Given the description of an element on the screen output the (x, y) to click on. 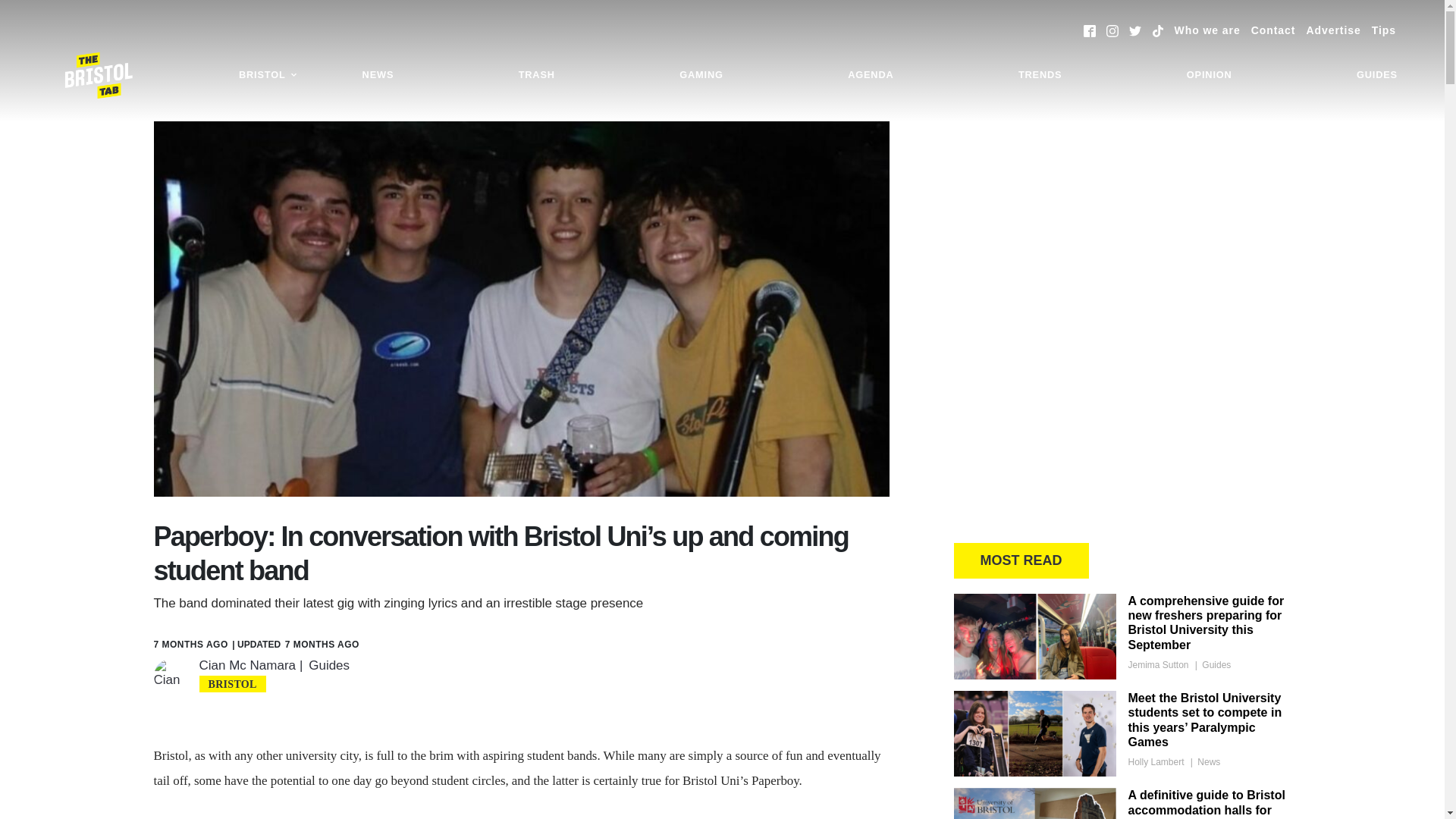
Tips (1383, 29)
NEWS (378, 75)
Contact (1272, 29)
Who we are (1207, 29)
TRASH (536, 75)
OPINION (1208, 75)
AGENDA (869, 75)
Advertise (1332, 29)
GUIDES (1377, 75)
GAMING (700, 75)
